Given the description of an element on the screen output the (x, y) to click on. 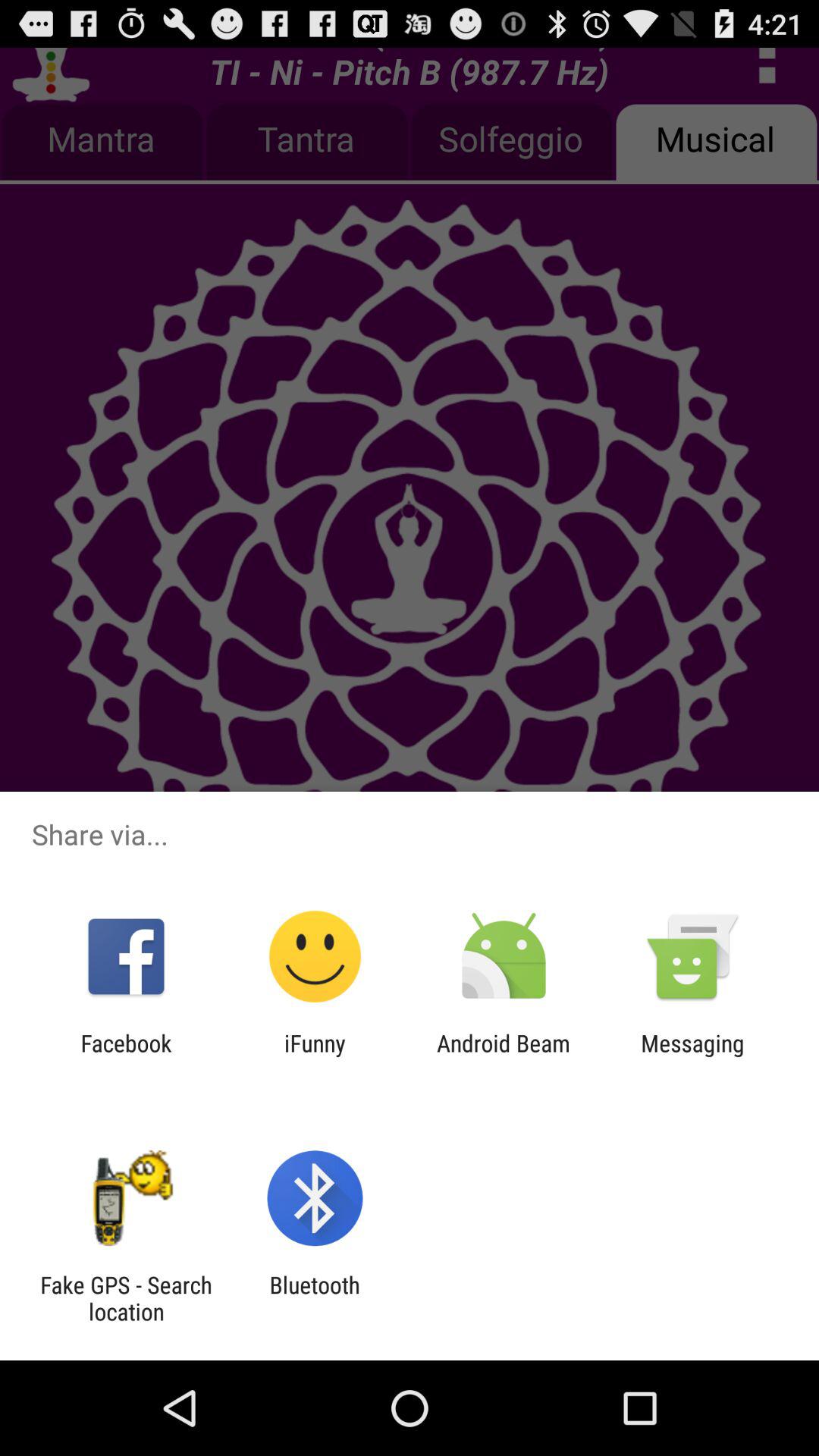
tap icon next to ifunny item (125, 1056)
